Given the description of an element on the screen output the (x, y) to click on. 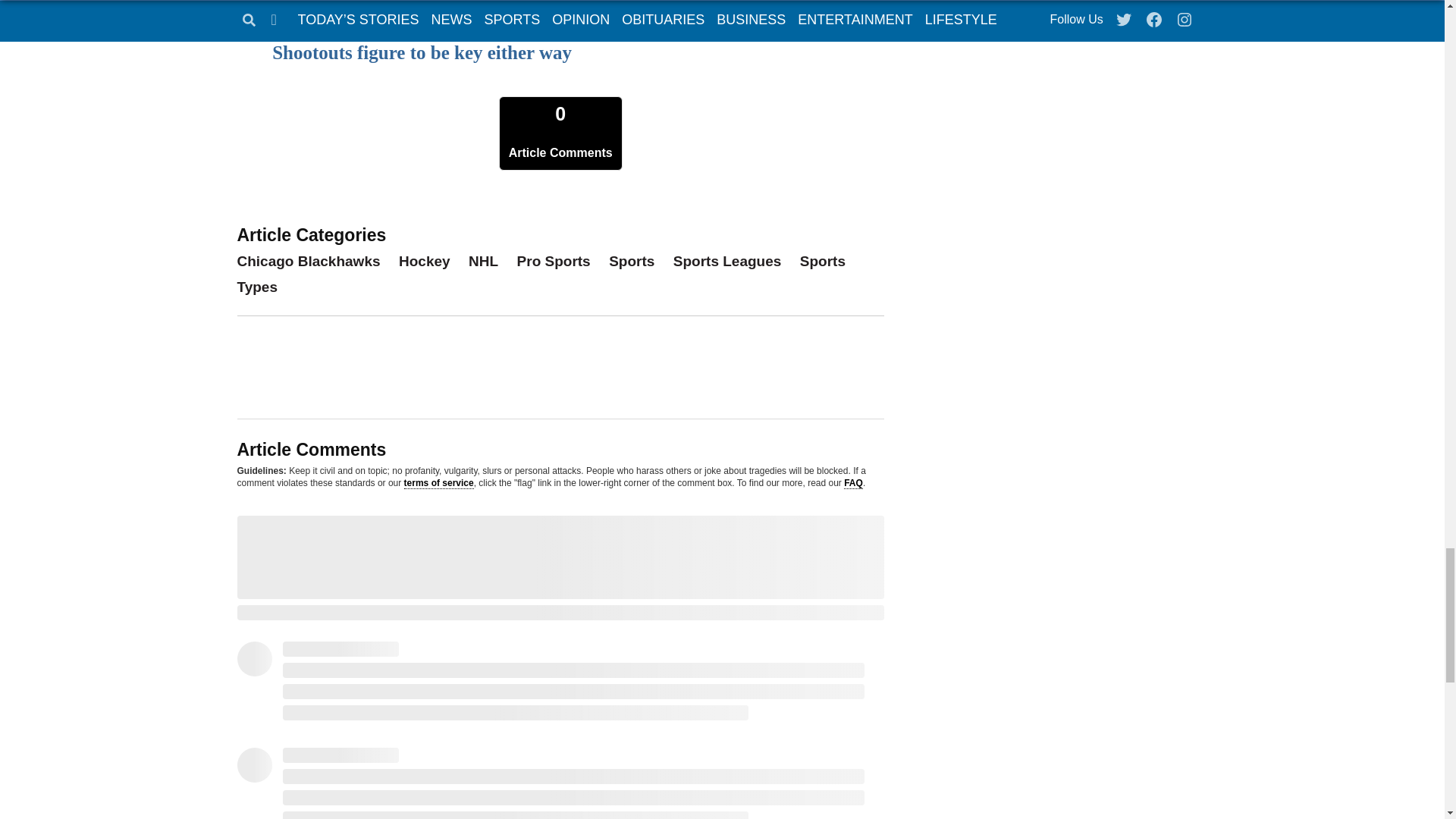
Blackhawks off to best start since 1972-73 (441, 10)
Shootouts figure to be key either way (422, 52)
